Given the description of an element on the screen output the (x, y) to click on. 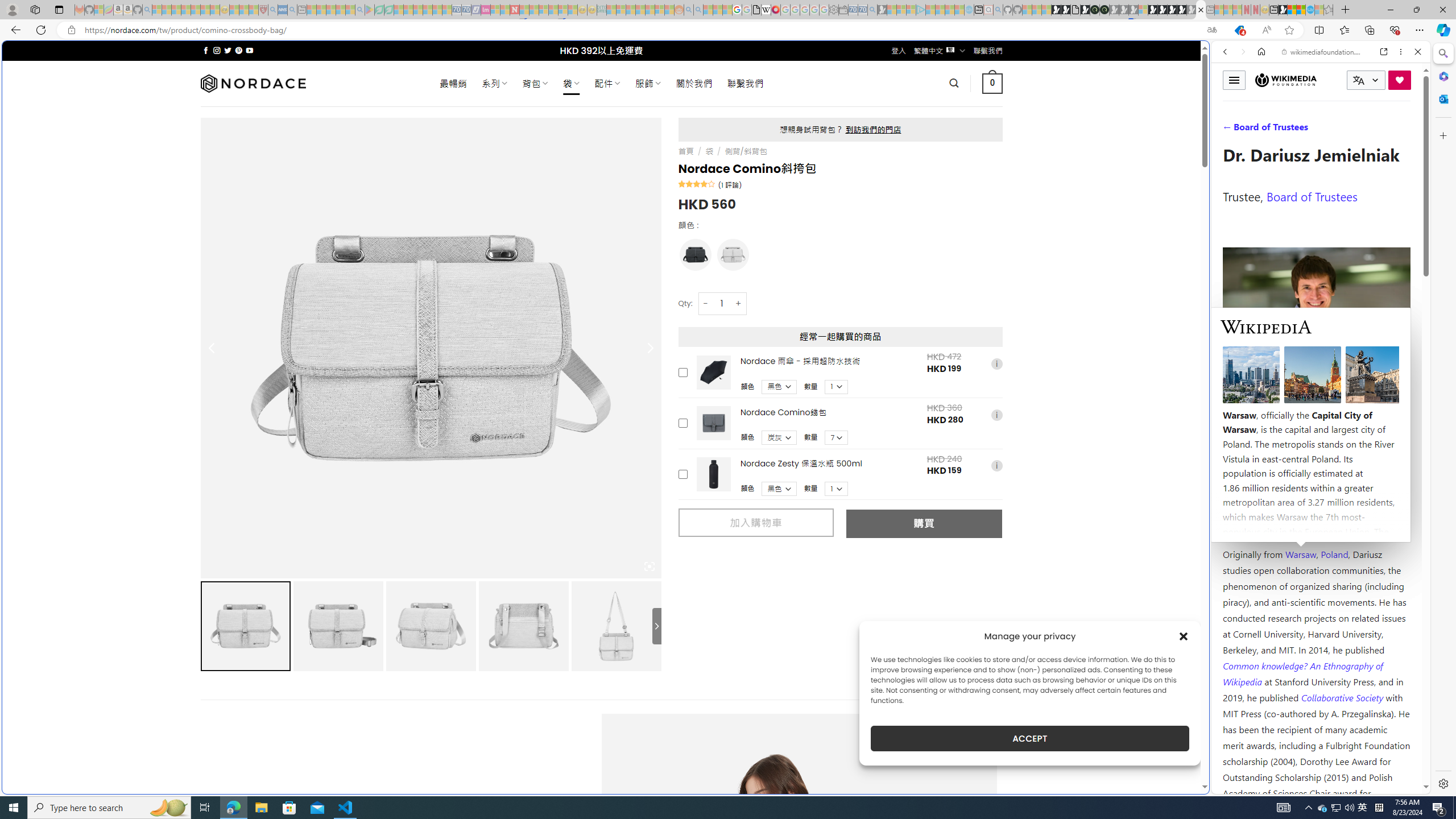
Class: cmplz-close (1183, 636)
Search or enter web address (922, 108)
ACCEPT (1029, 738)
